Given the description of an element on the screen output the (x, y) to click on. 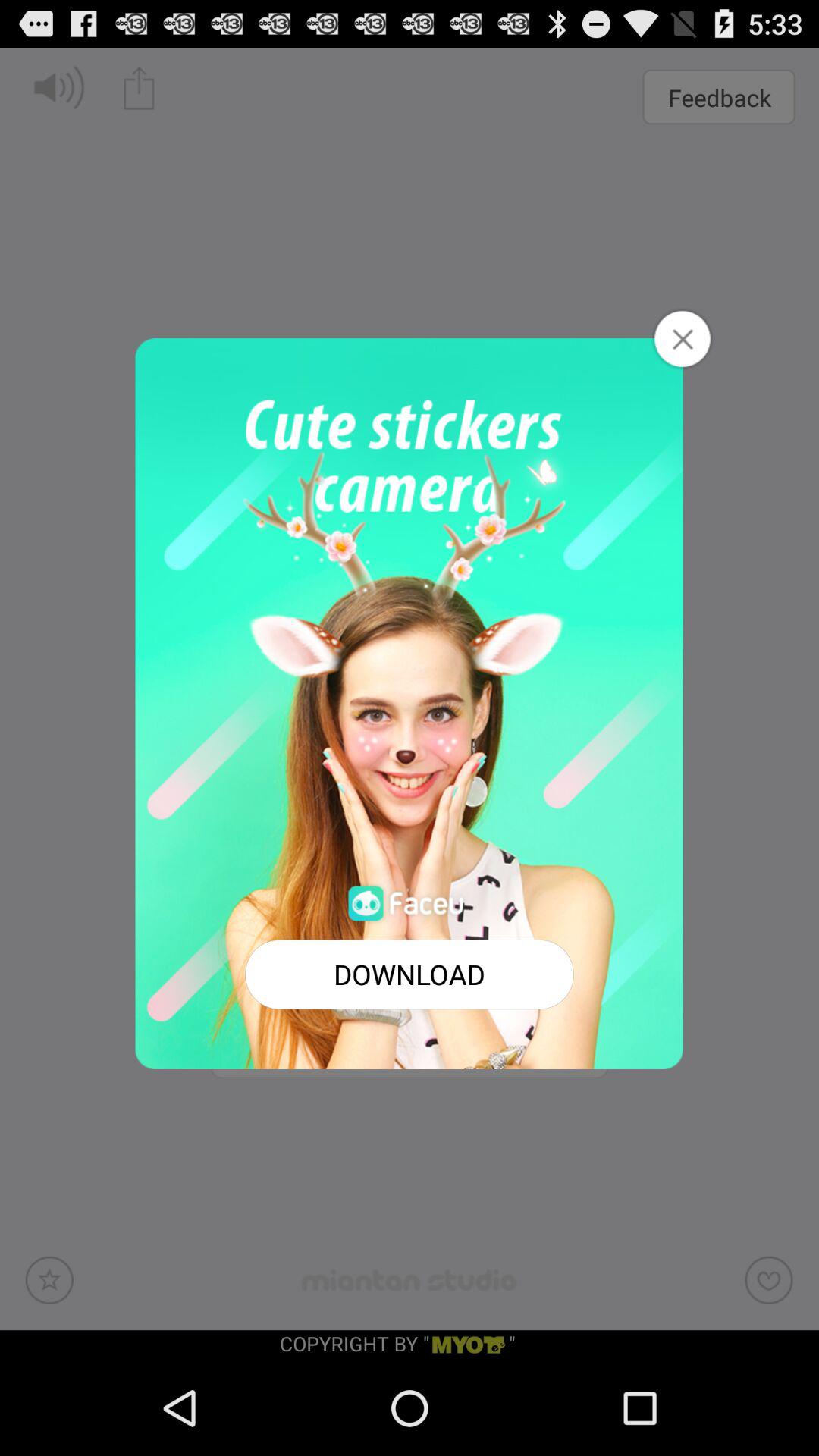
open the download button (409, 974)
